Given the description of an element on the screen output the (x, y) to click on. 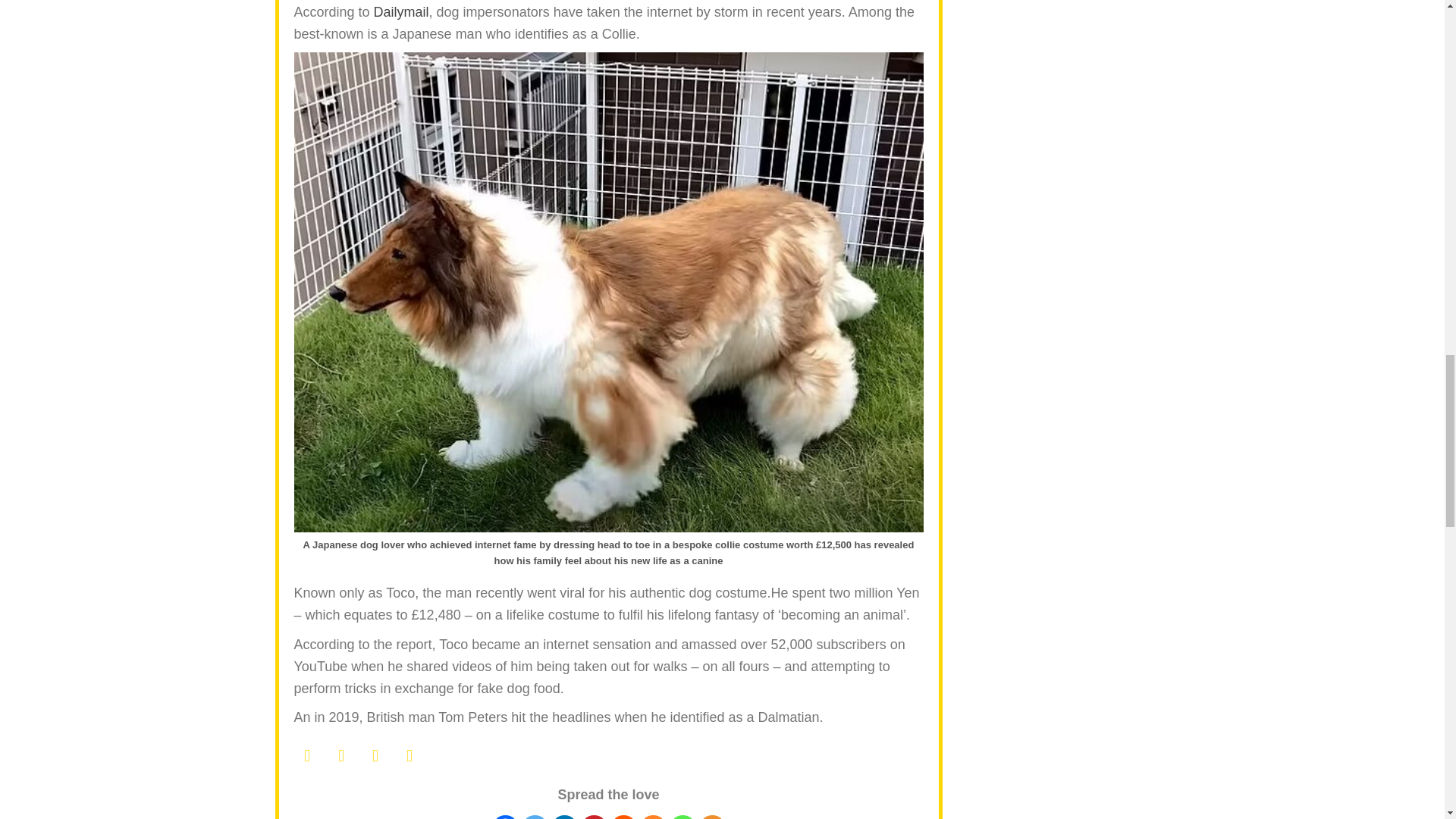
Linkedin (563, 816)
Reddit (623, 816)
Mix (653, 816)
Dailymail (401, 11)
Twitter (534, 816)
Pinterest (593, 816)
Facebook (505, 816)
Whatsapp (681, 816)
